Given the description of an element on the screen output the (x, y) to click on. 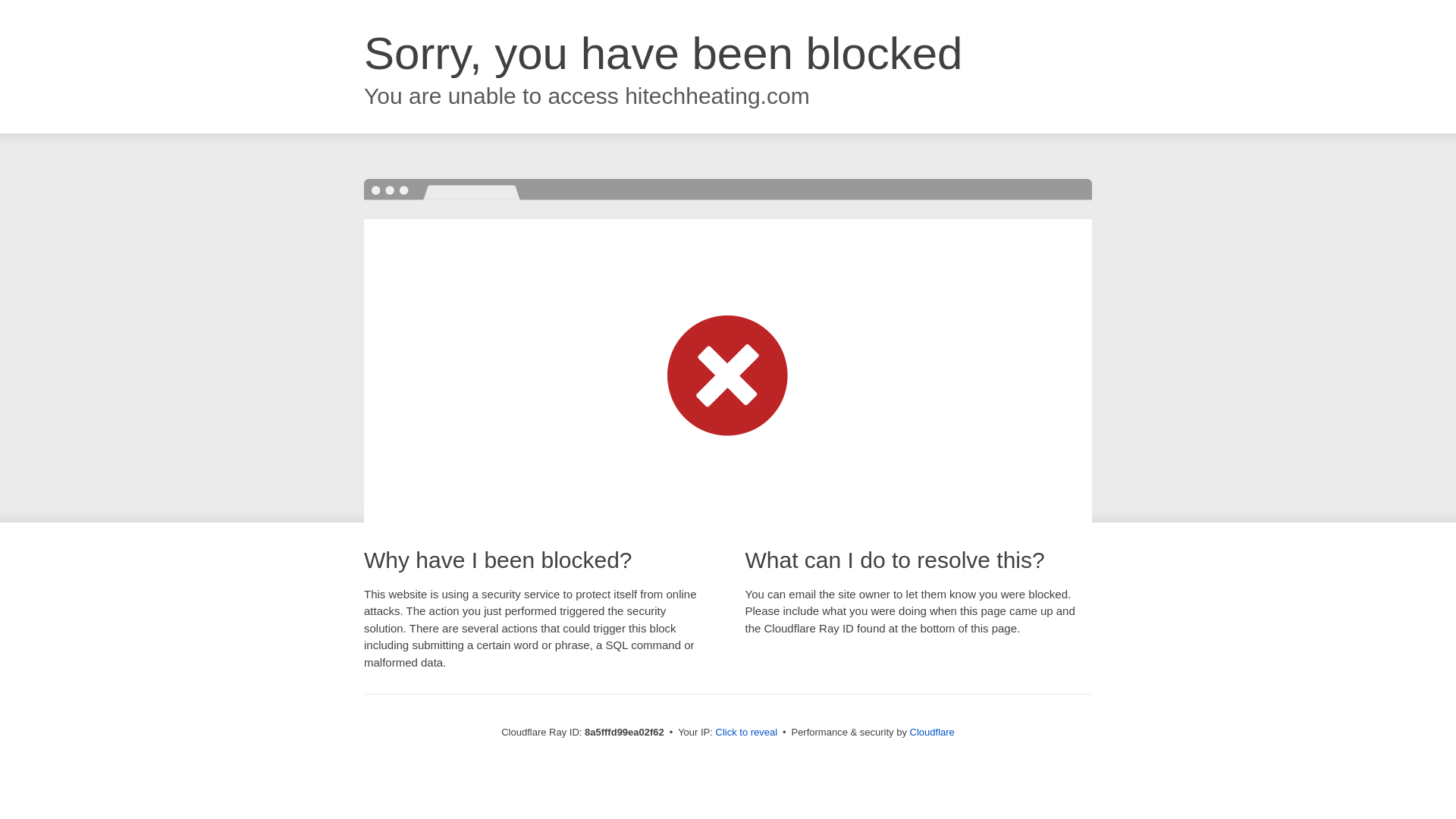
Cloudflare (932, 731)
Click to reveal (746, 732)
